Given the description of an element on the screen output the (x, y) to click on. 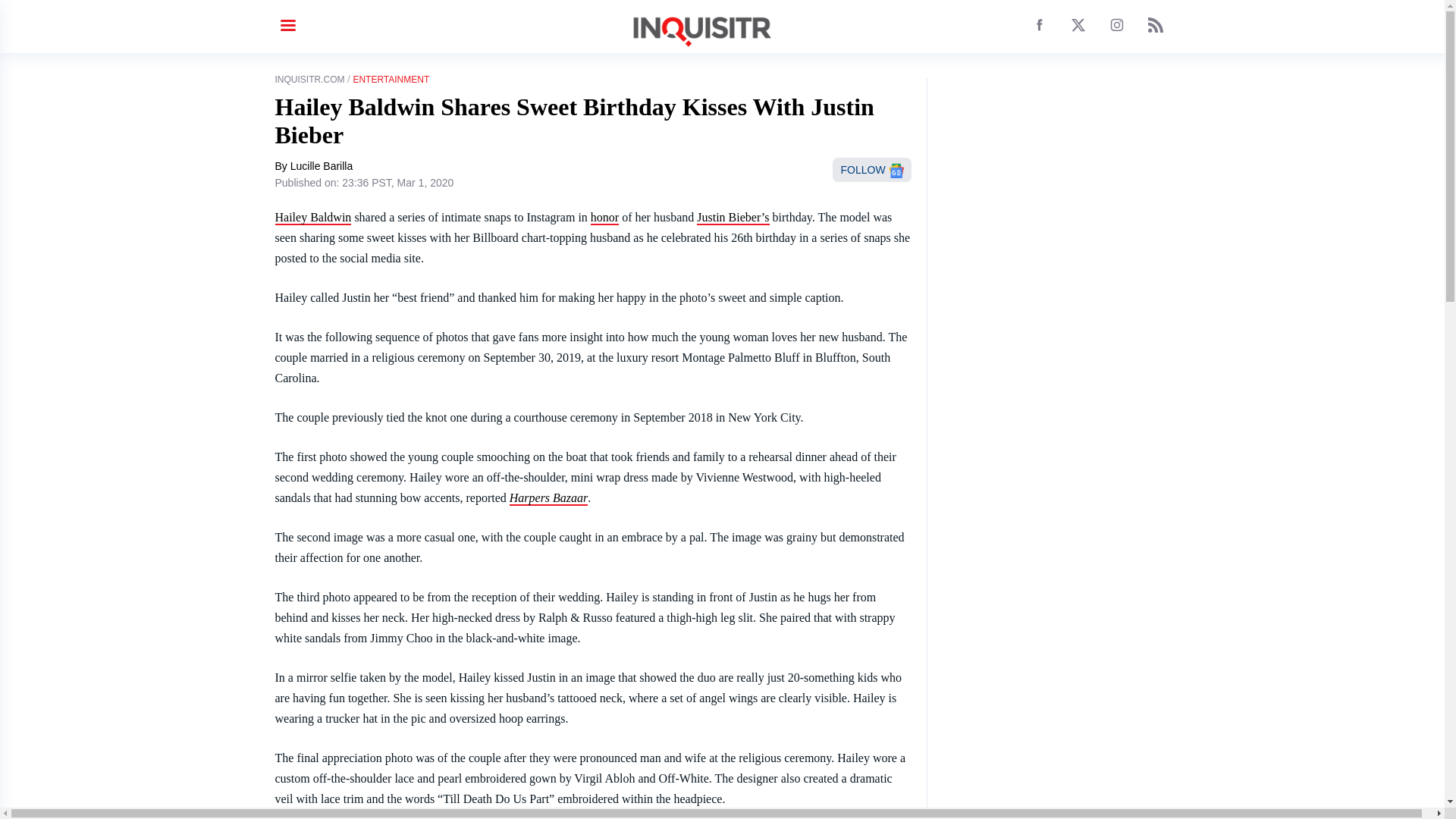
INQUISITR.COM (309, 79)
ENTERTAINMENT (390, 79)
